Given the description of an element on the screen output the (x, y) to click on. 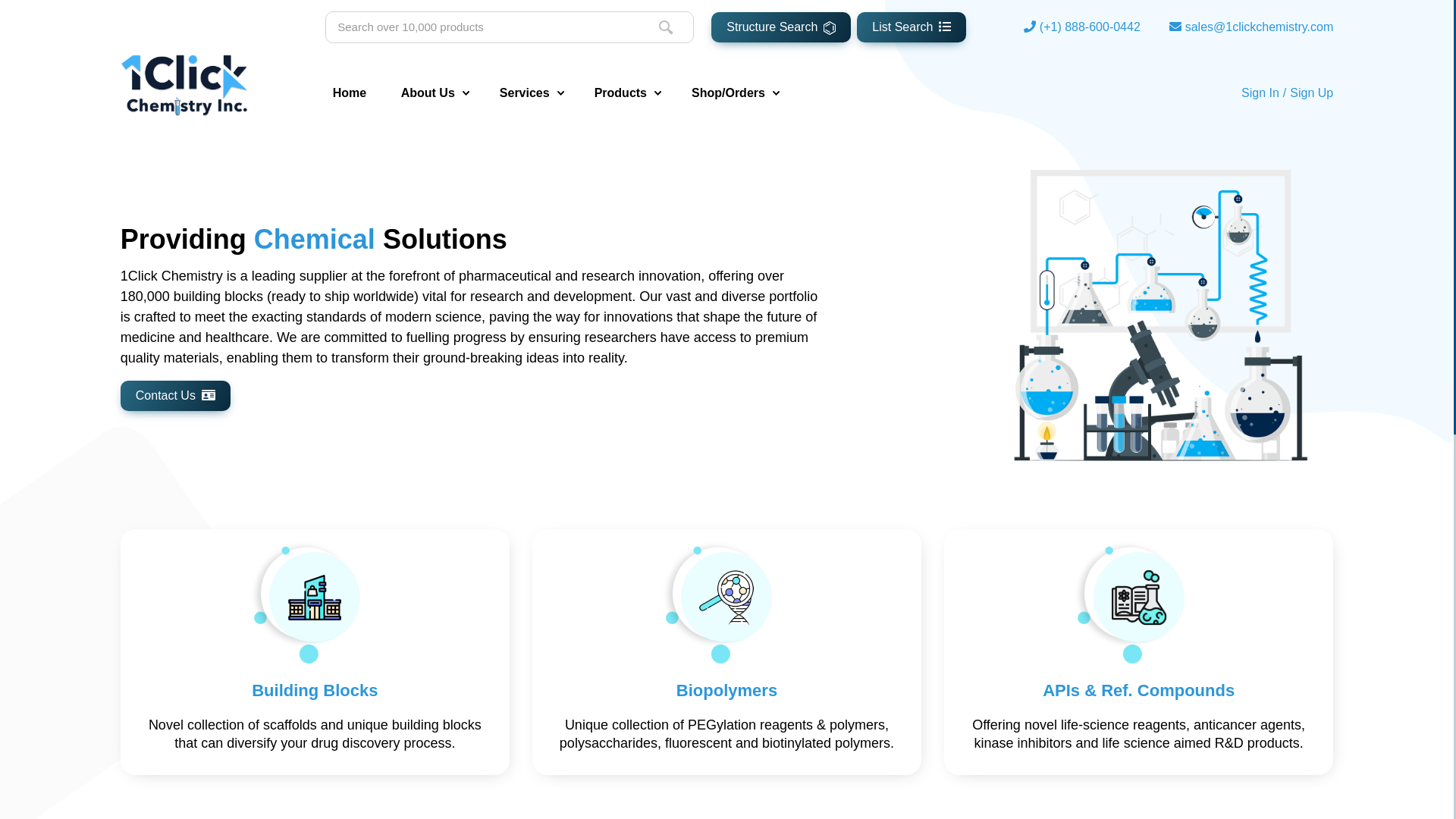
(+1) 888-600-0442 Element type: text (1089, 26)
sales@1clickchemistry.com Element type: text (1259, 26)
Sign In Element type: text (1260, 92)
Contact Us Element type: text (175, 395)
List Search Element type: text (911, 27)
Sign Up Element type: text (1311, 92)
Contact Us Element type: text (175, 395)
Structure Search Element type: text (780, 27)
